Given the description of an element on the screen output the (x, y) to click on. 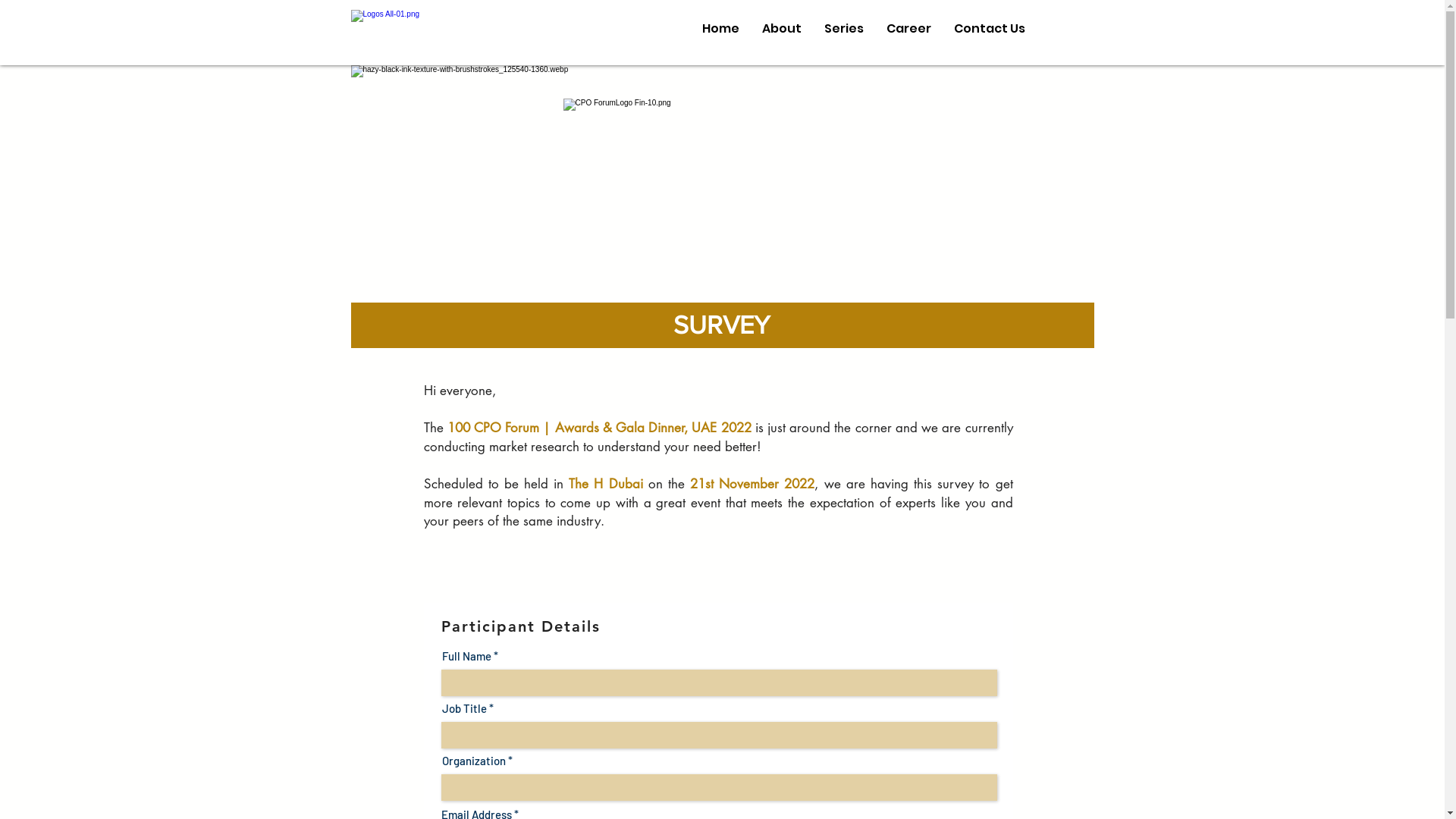
Series Element type: text (843, 28)
3novex logo W-02.png Element type: hover (443, 28)
Contact Us Element type: text (988, 28)
Home Element type: text (719, 28)
About Element type: text (781, 28)
Career Element type: text (908, 28)
